Given the description of an element on the screen output the (x, y) to click on. 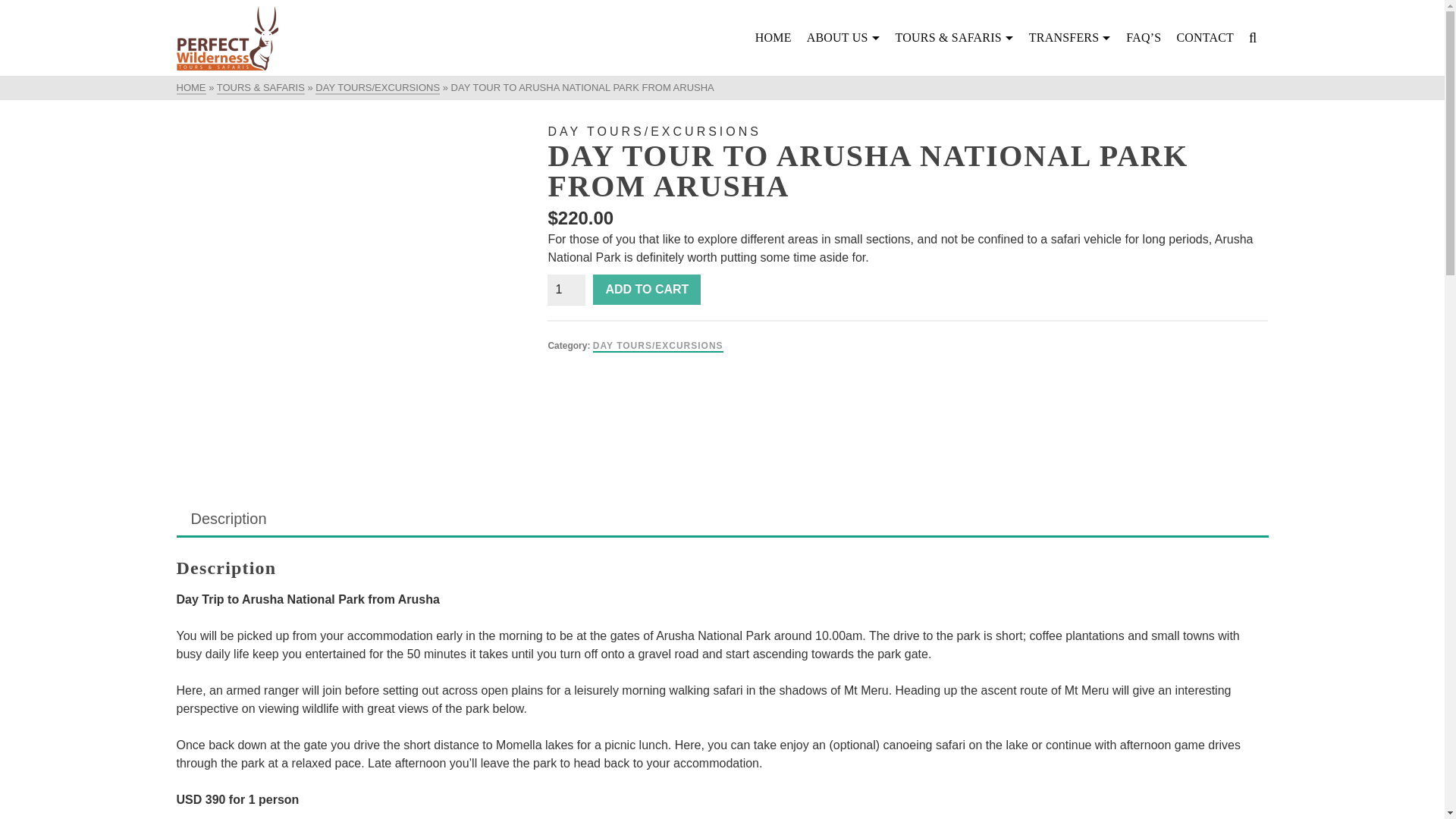
ADD TO CART (646, 289)
Description (229, 519)
HOME (773, 37)
CONTACT (1205, 37)
HOME (190, 88)
TRANSFERS (1070, 37)
1 (566, 289)
ABOUT US (843, 37)
